Given the description of an element on the screen output the (x, y) to click on. 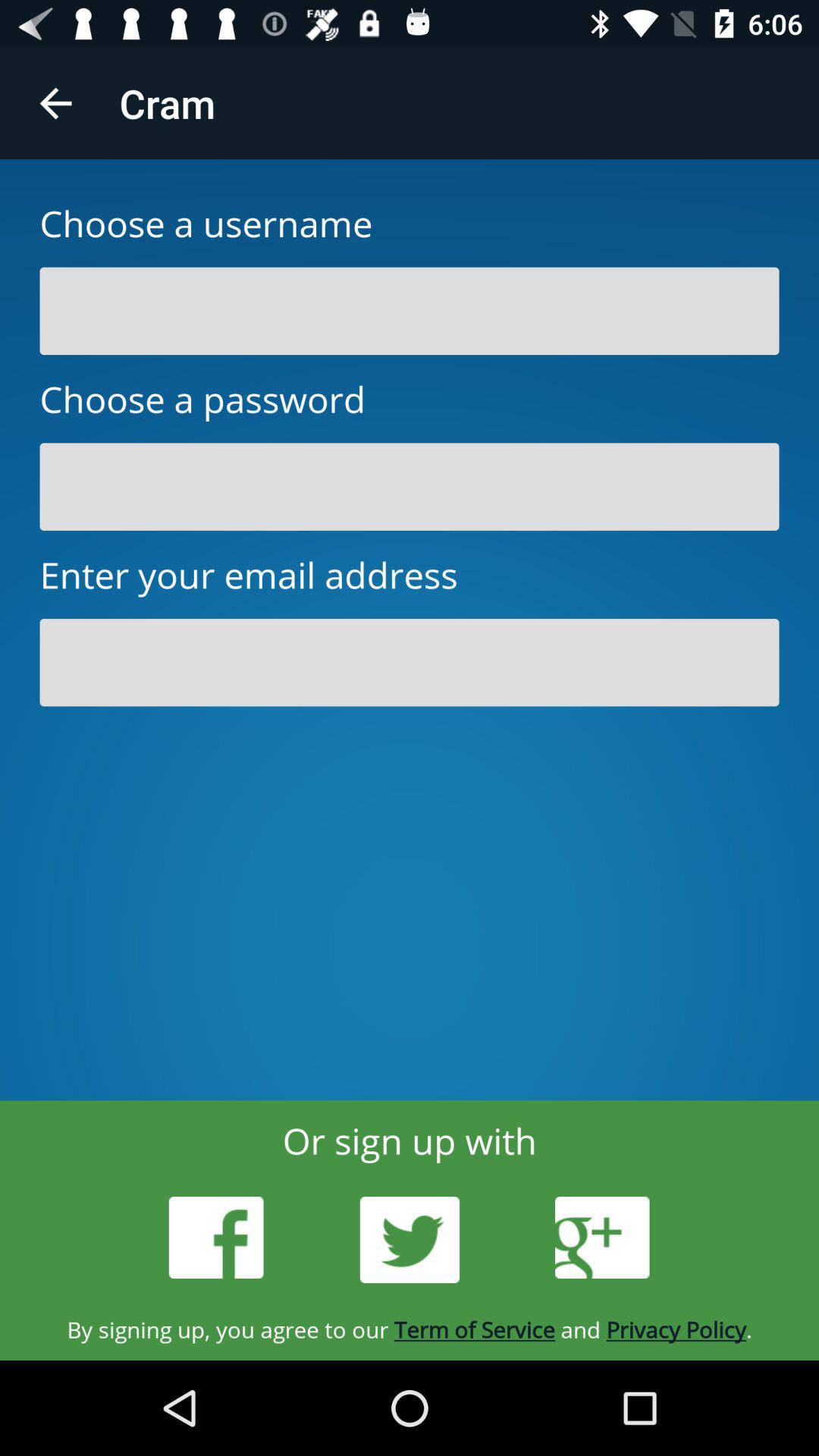
username (409, 310)
